Given the description of an element on the screen output the (x, y) to click on. 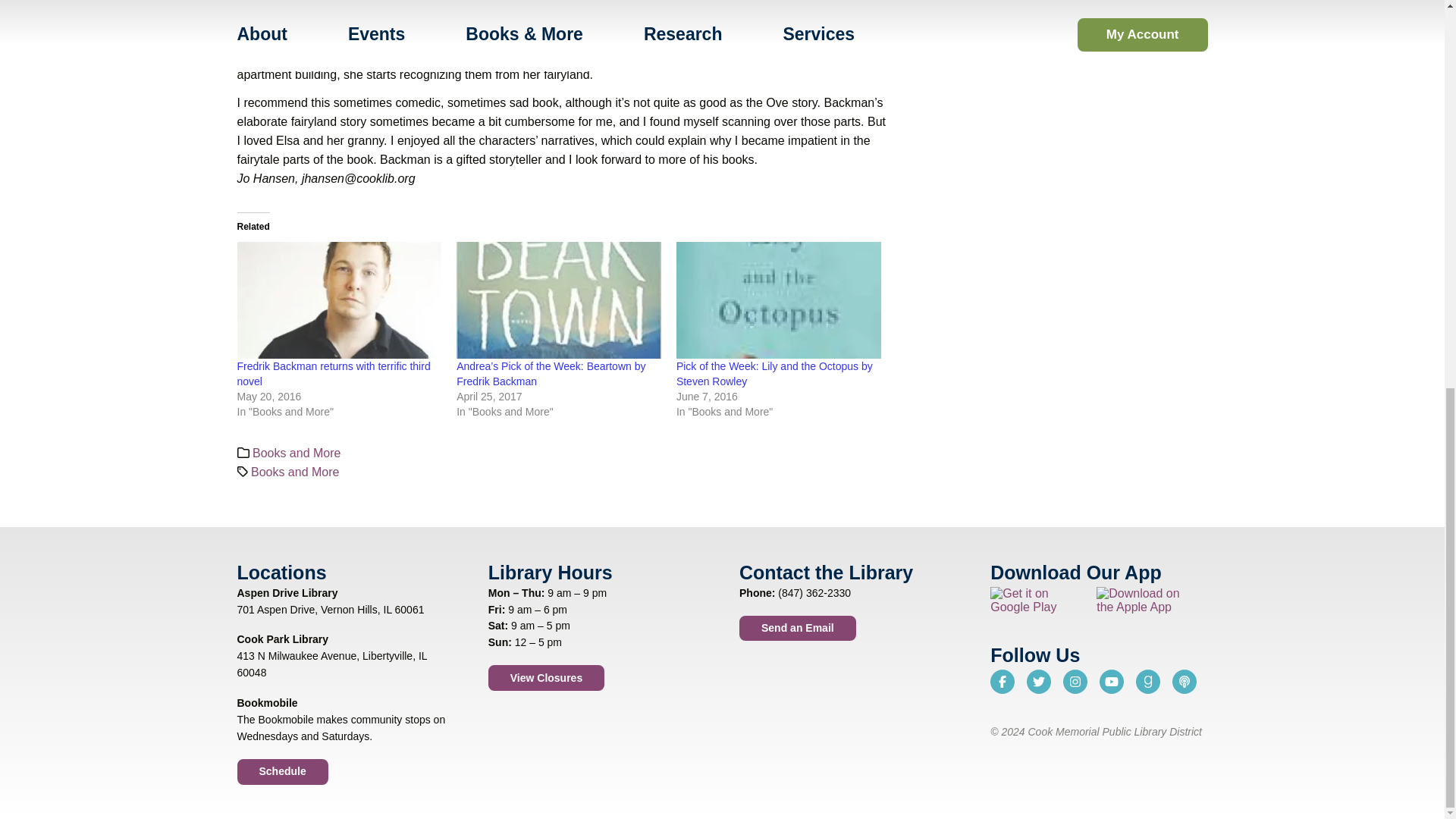
Fredrik Backman returns with terrific third novel (338, 299)
Please fill in this field. (1015, 48)
Fredrik Backman returns with terrific third novel (332, 373)
Pick of the Week: Lily and the Octopus by Steven Rowley (774, 373)
Pick of the Week: Lily and the Octopus by Steven Rowley (778, 299)
